Given the description of an element on the screen output the (x, y) to click on. 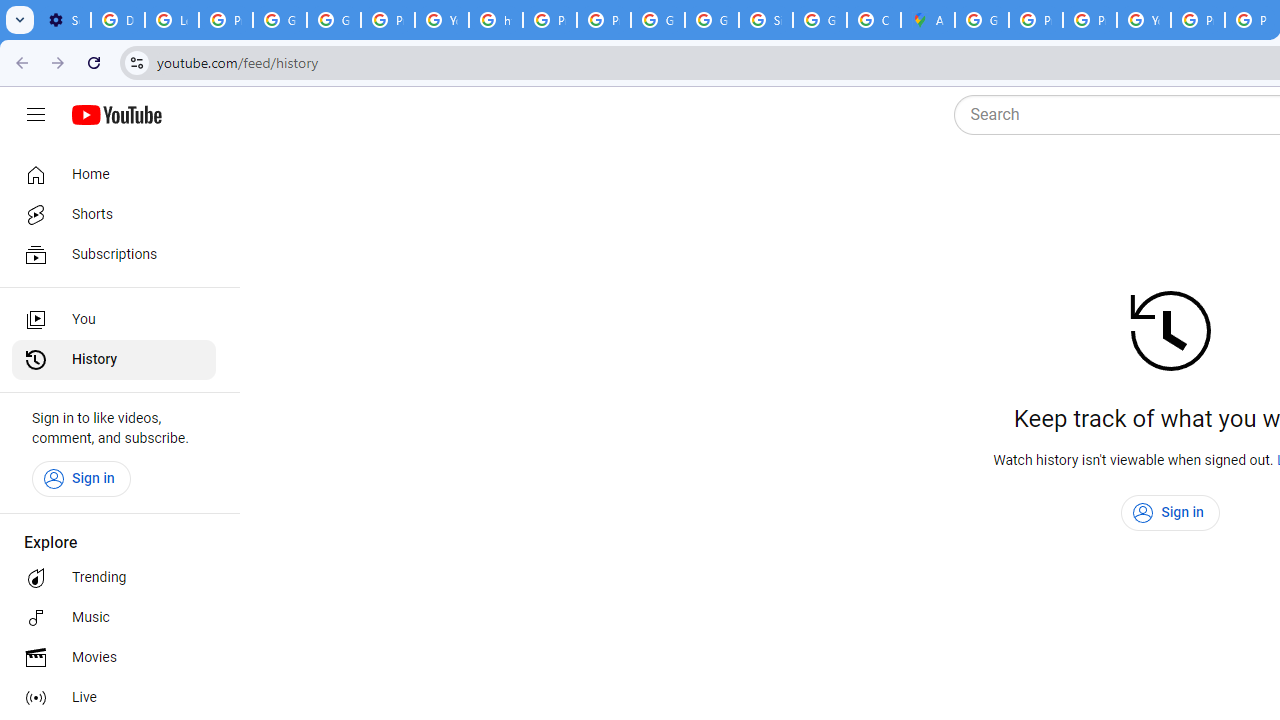
Sign in - Google Accounts (765, 20)
Live (113, 697)
Delete photos & videos - Computer - Google Photos Help (117, 20)
Guide (35, 115)
History (113, 359)
YouTube (1144, 20)
